Given the description of an element on the screen output the (x, y) to click on. 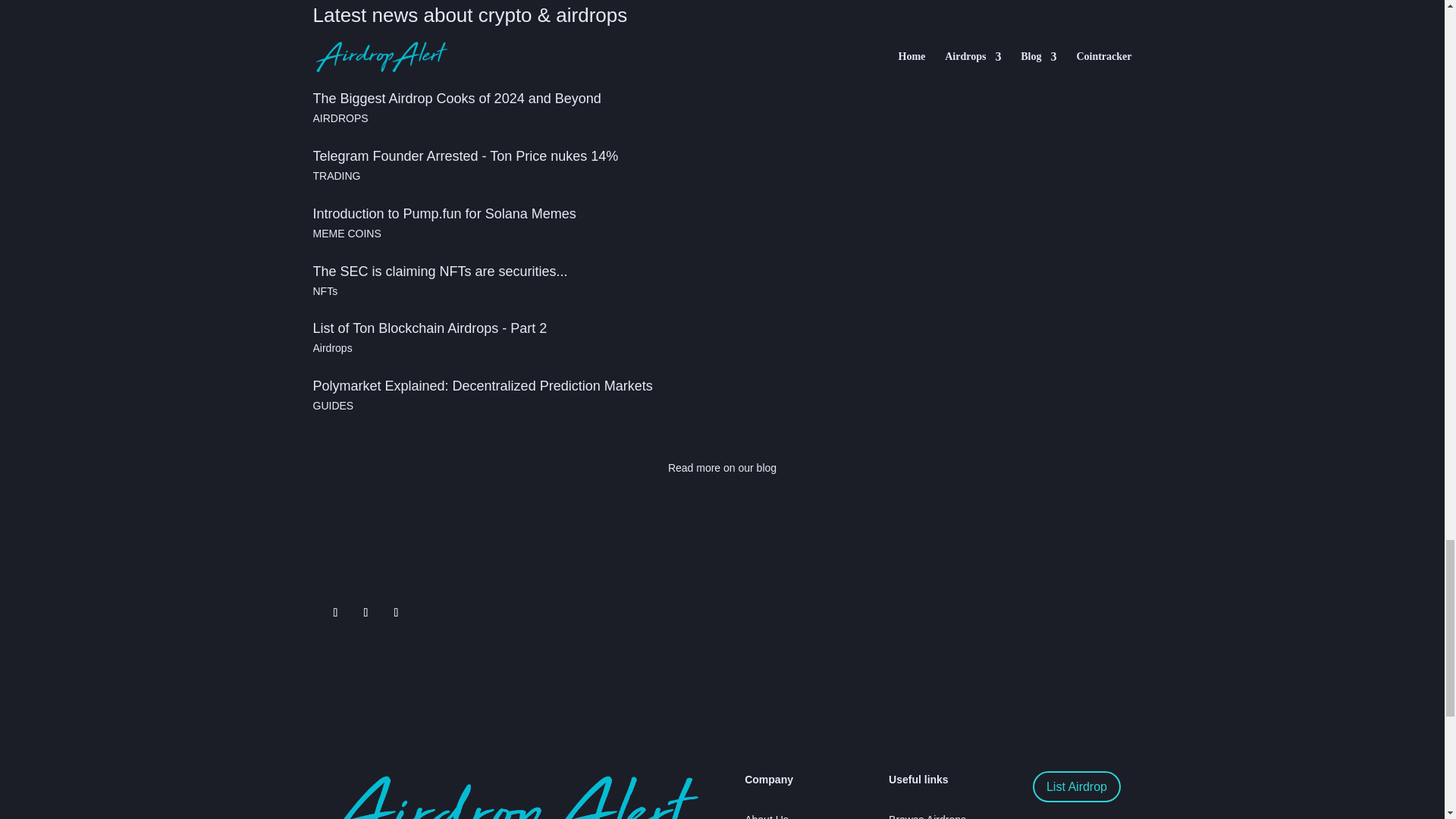
Follow on Telegram (365, 612)
airdrop-alert-logo (505, 795)
Follow on Facebook (395, 612)
Follow on X (335, 612)
